Given the description of an element on the screen output the (x, y) to click on. 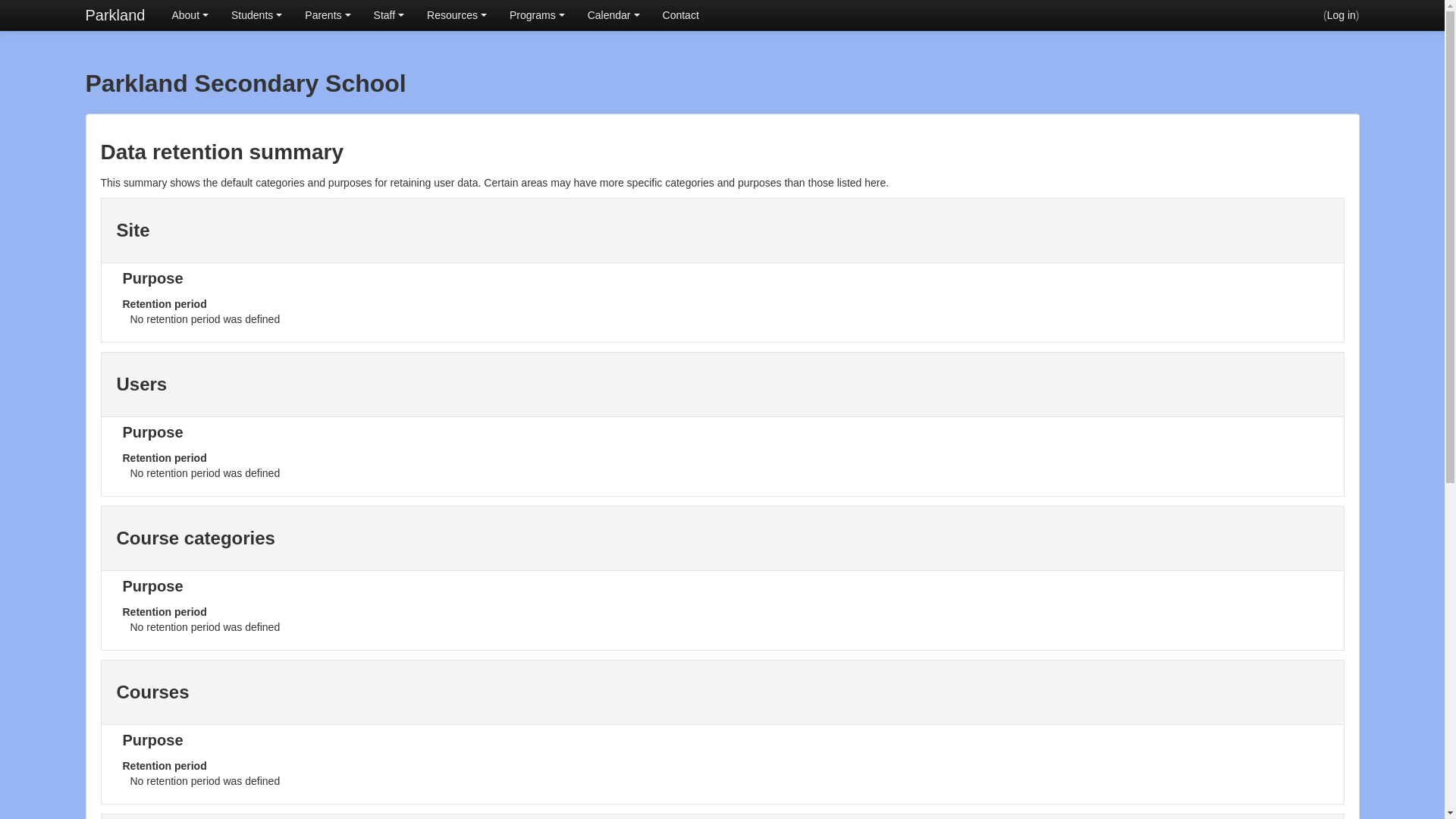
Students Element type: text (256, 15)
Staff Element type: text (389, 15)
Calendar Element type: text (613, 15)
Parkland Element type: text (114, 15)
Log in Element type: text (1341, 15)
Contact Element type: text (680, 15)
Parents Element type: text (327, 15)
About Element type: text (189, 15)
Programs Element type: text (537, 15)
Resources Element type: text (456, 15)
